Given the description of an element on the screen output the (x, y) to click on. 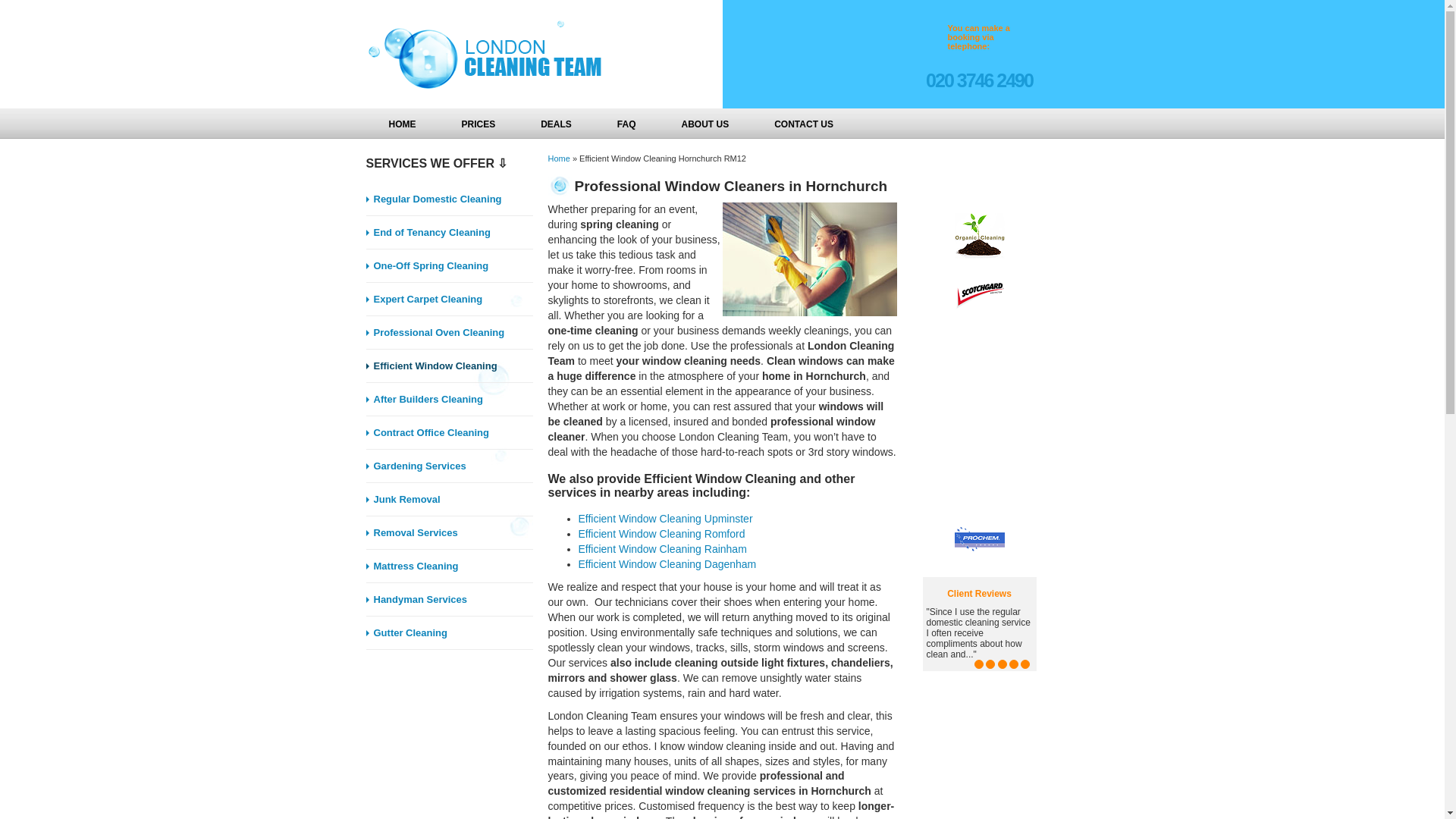
ABOUT US (705, 123)
Gardening Services (448, 465)
Removal Services (448, 532)
Junk Removal (448, 499)
Expert Carpet Cleaning (448, 298)
CONTACT US (803, 123)
London Cleaning Team (478, 54)
Efficient Window Cleaning (448, 365)
Regular Domestic Cleaning (448, 198)
Contract Office Cleaning (448, 432)
